Given the description of an element on the screen output the (x, y) to click on. 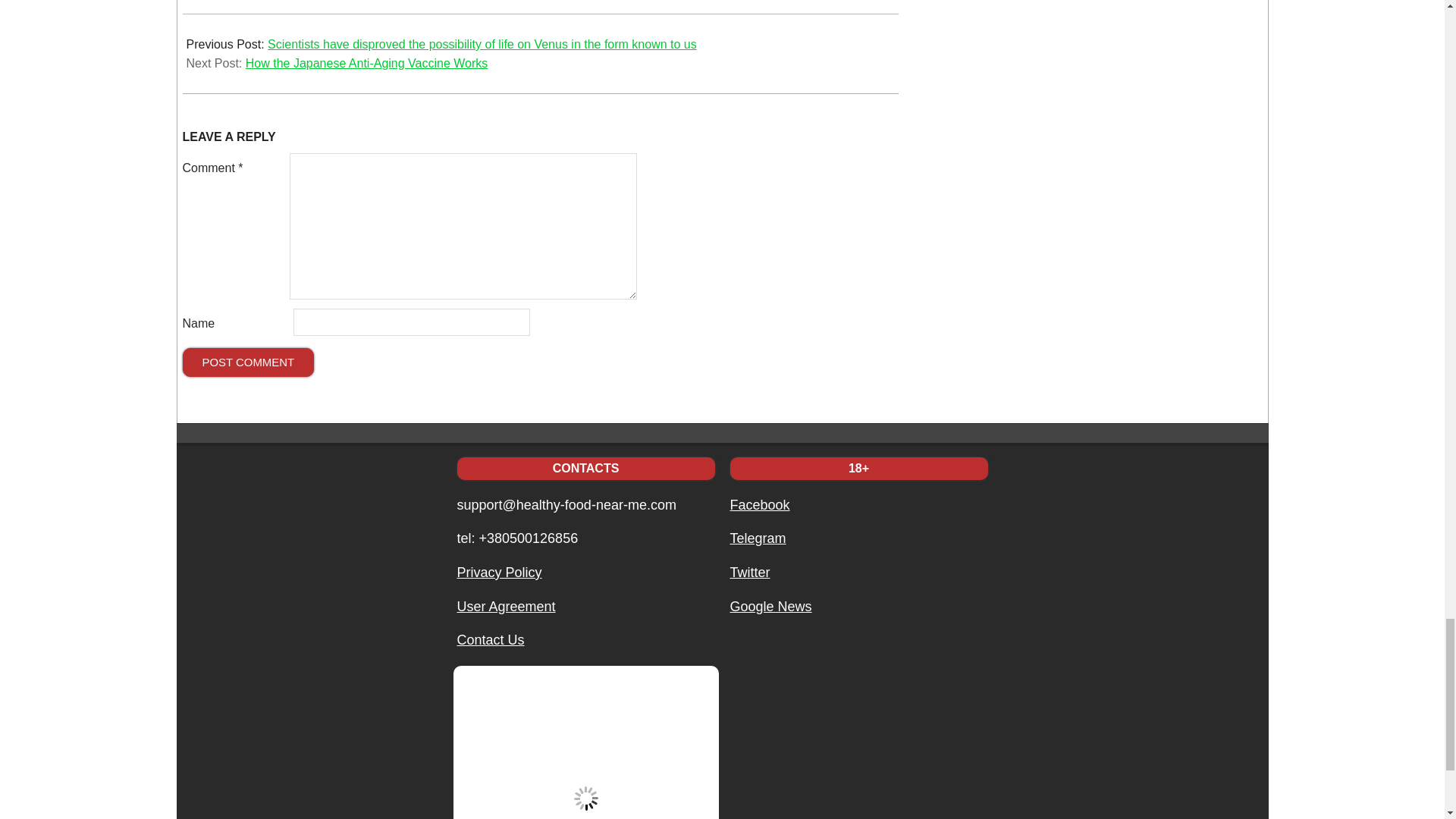
Post Comment (248, 362)
